Given the description of an element on the screen output the (x, y) to click on. 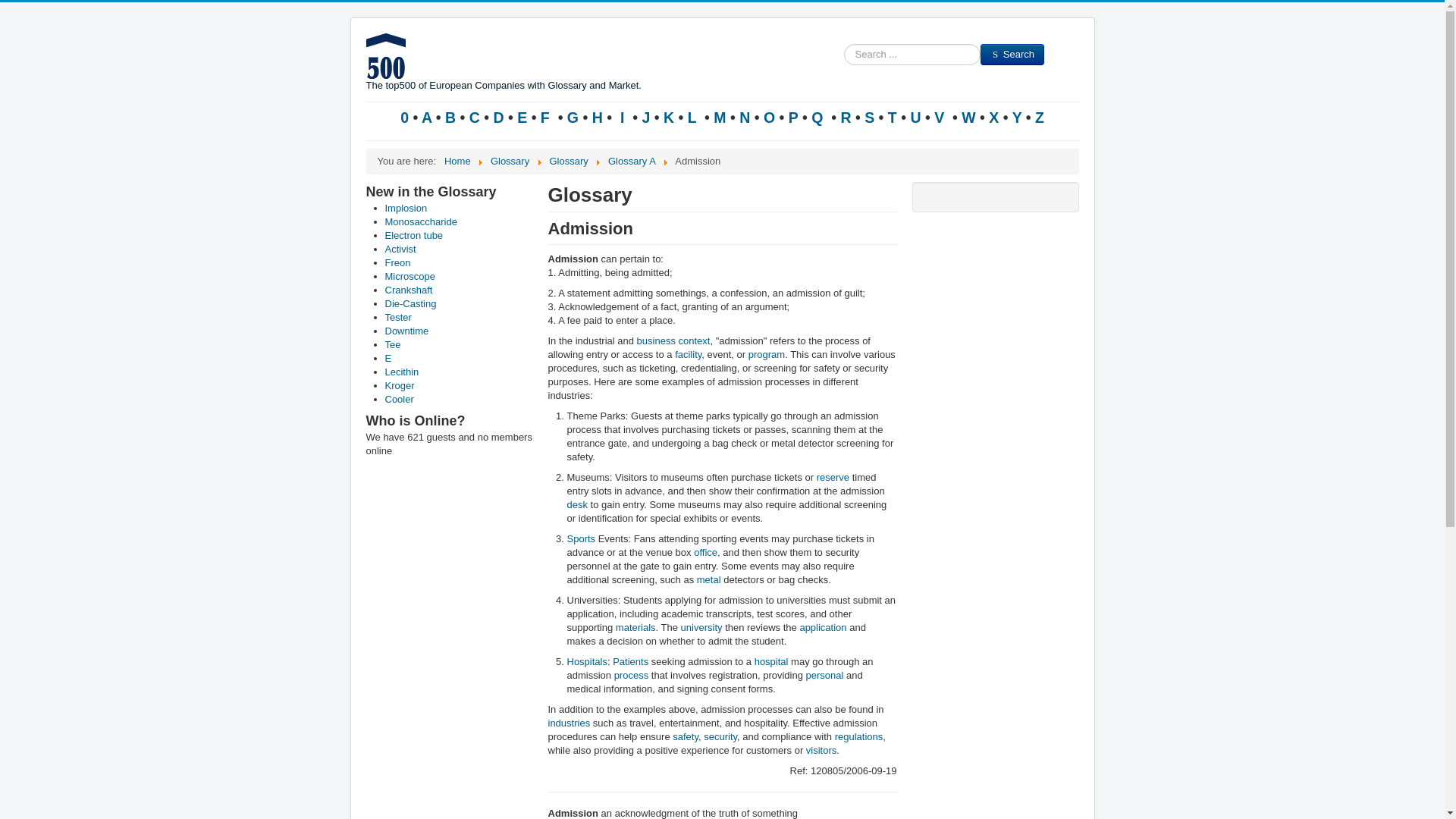
 T  (892, 117)
 K  (668, 117)
 Q   (819, 117)
 D  (498, 117)
 S  (869, 117)
Search (1011, 54)
 N  (744, 117)
Microscope (410, 276)
